Given the description of an element on the screen output the (x, y) to click on. 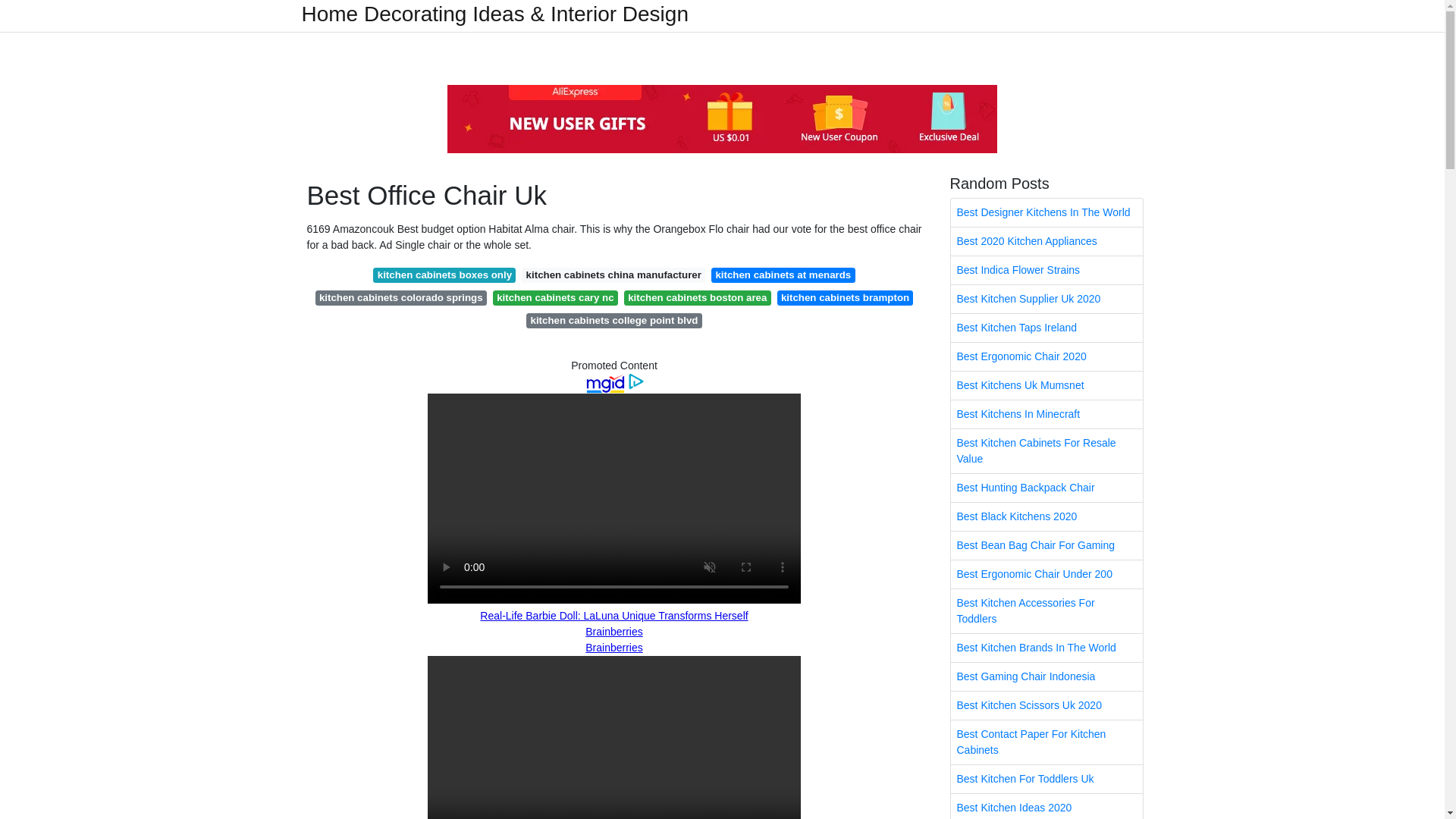
Best Kitchen Taps Ireland (1046, 327)
kitchen cabinets cary nc (555, 297)
kitchen cabinets boxes only (443, 274)
Best Ergonomic Chair 2020 (1046, 357)
kitchen cabinets college point blvd (613, 320)
kitchen cabinets china manufacturer (612, 274)
kitchen cabinets colorado springs (400, 297)
Best Kitchens In Minecraft (1046, 414)
Best Kitchen Cabinets For Resale Value (1046, 451)
kitchen cabinets brampton (845, 297)
Best Indica Flower Strains (1046, 270)
Best Kitchen Supplier Uk 2020 (1046, 298)
Best Kitchens Uk Mumsnet (1046, 385)
kitchen cabinets at menards (782, 274)
Best Designer Kitchens In The World (1046, 212)
